Given the description of an element on the screen output the (x, y) to click on. 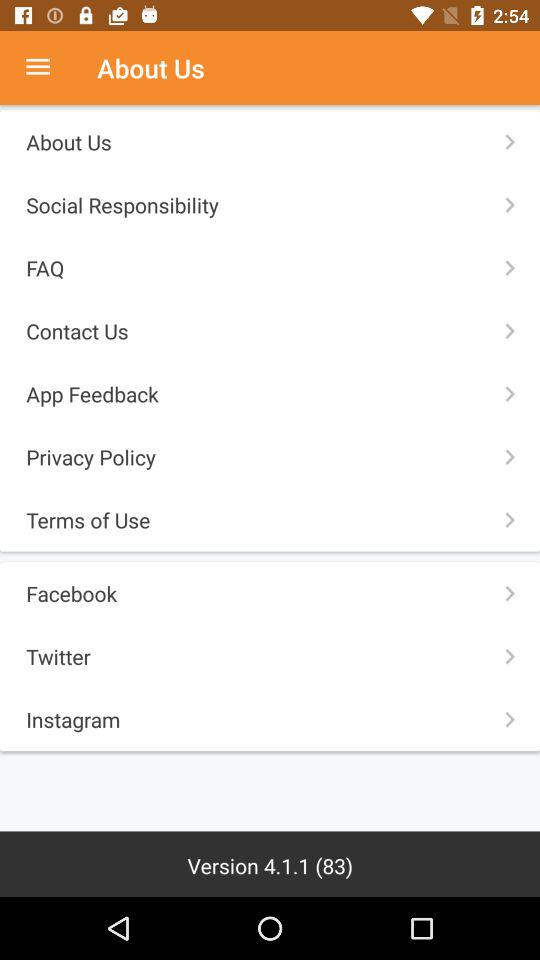
open icon next to about us icon (48, 67)
